Given the description of an element on the screen output the (x, y) to click on. 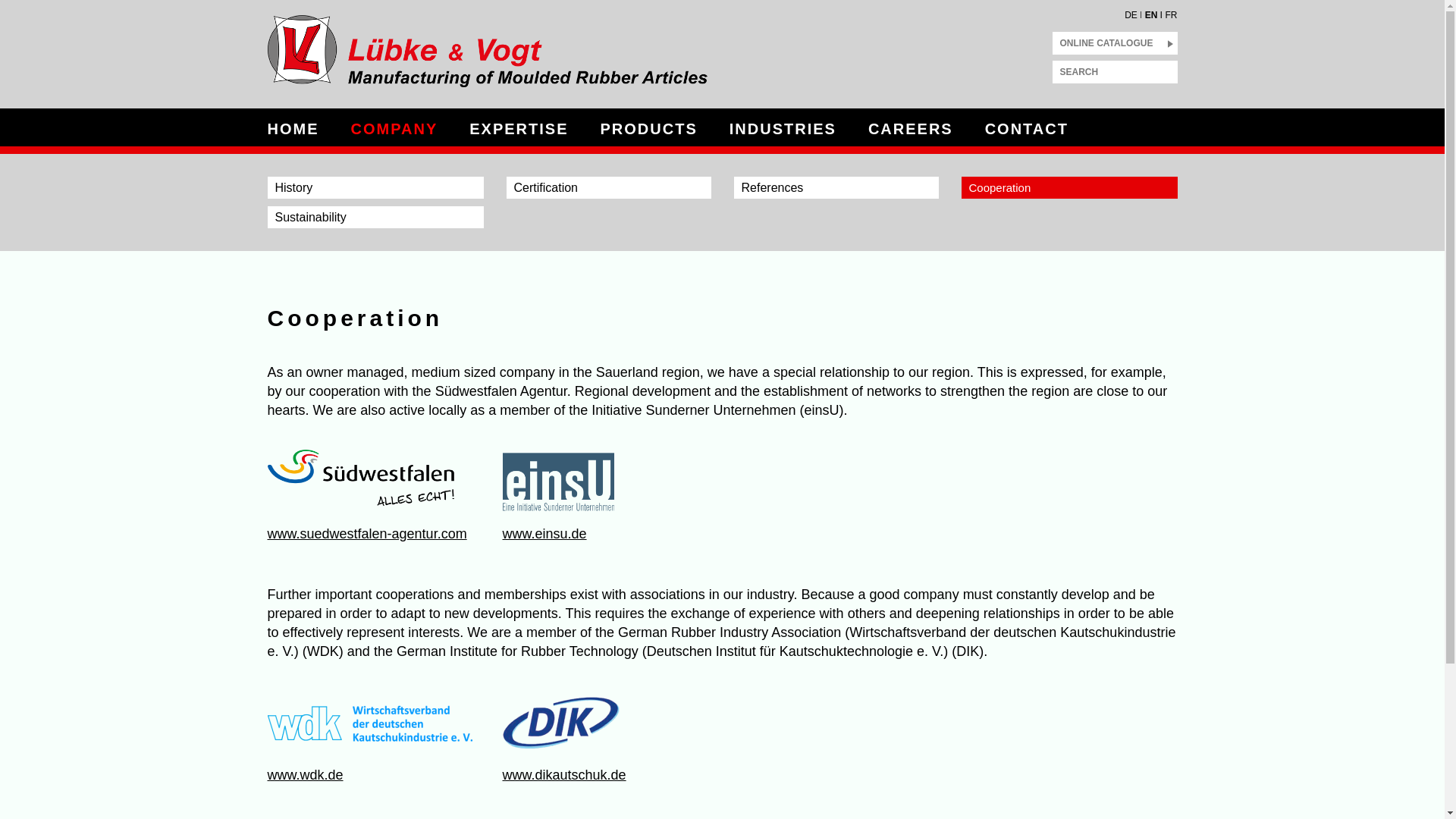
EXPERTISE (517, 128)
Cooperation (1068, 187)
COMPANY (394, 128)
History (374, 187)
PRODUCTS (648, 128)
ONLINE CATALOGUE (1114, 42)
EN (1151, 11)
INDUSTRIES (782, 128)
einsU (604, 479)
Zur Startseite (501, 54)
